Given the description of an element on the screen output the (x, y) to click on. 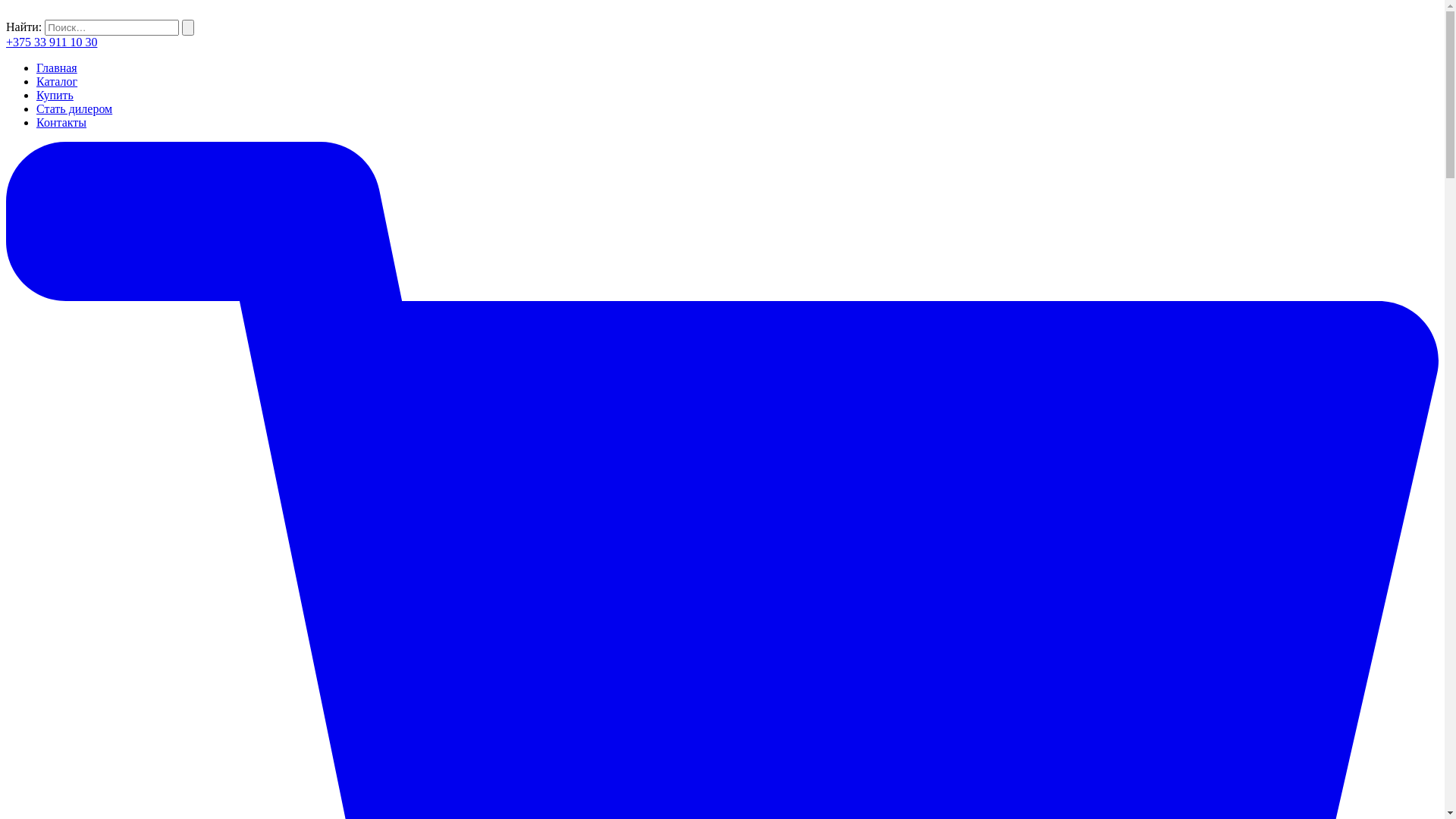
+375 33 911 10 30 Element type: text (51, 41)
